Given the description of an element on the screen output the (x, y) to click on. 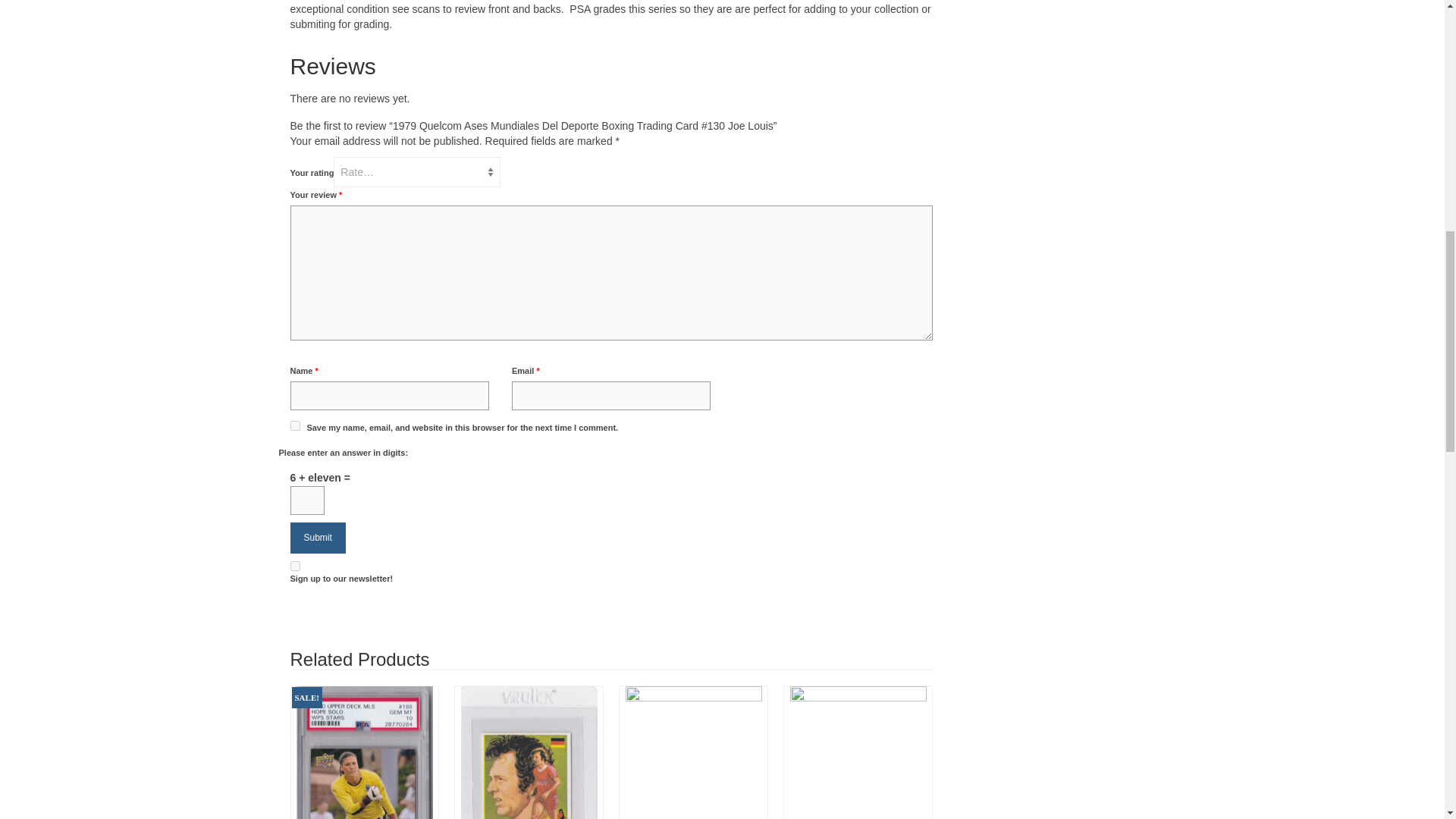
1 (294, 565)
yes (294, 425)
Submit (317, 537)
